Given the description of an element on the screen output the (x, y) to click on. 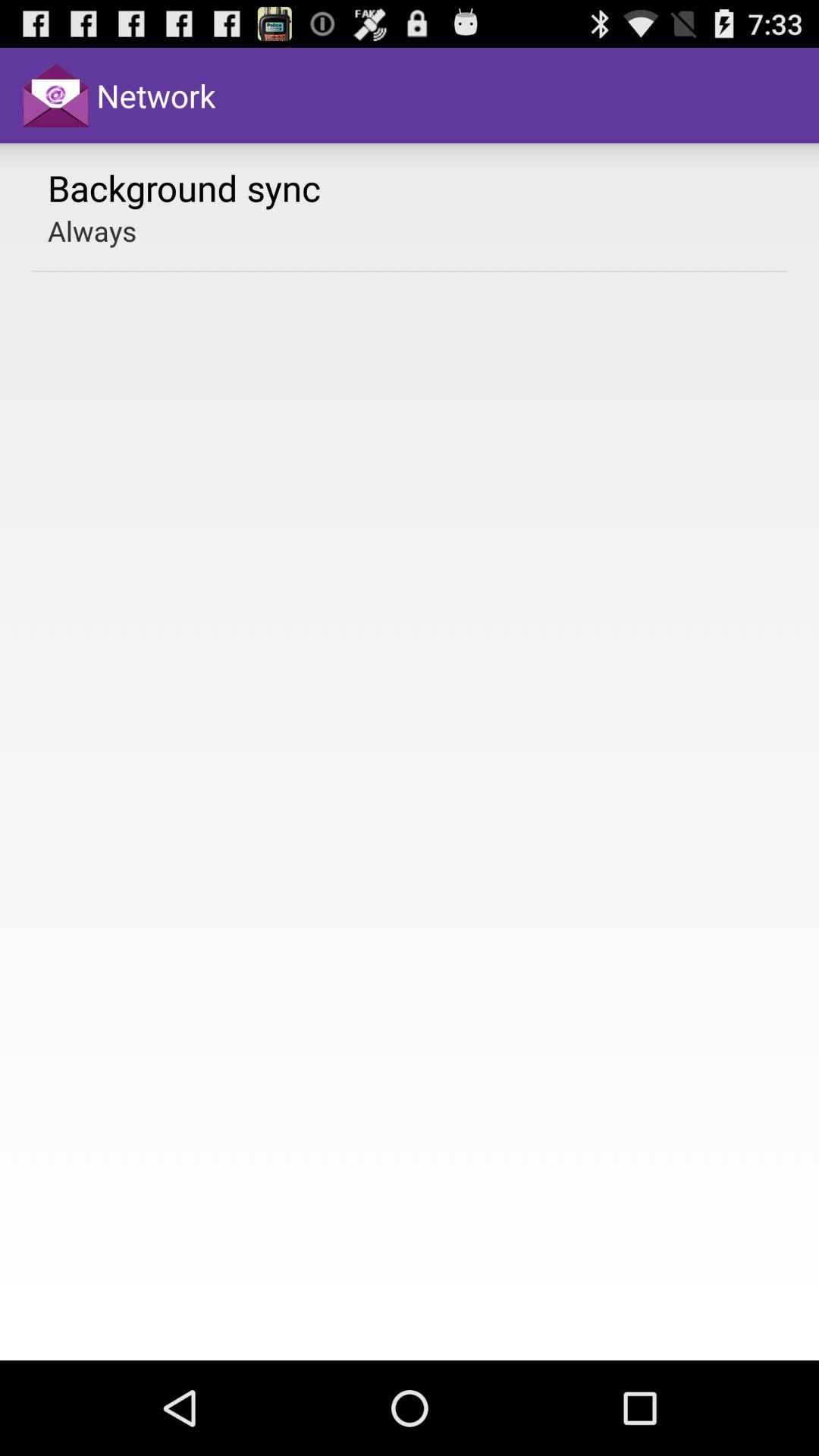
click background sync app (183, 187)
